Given the description of an element on the screen output the (x, y) to click on. 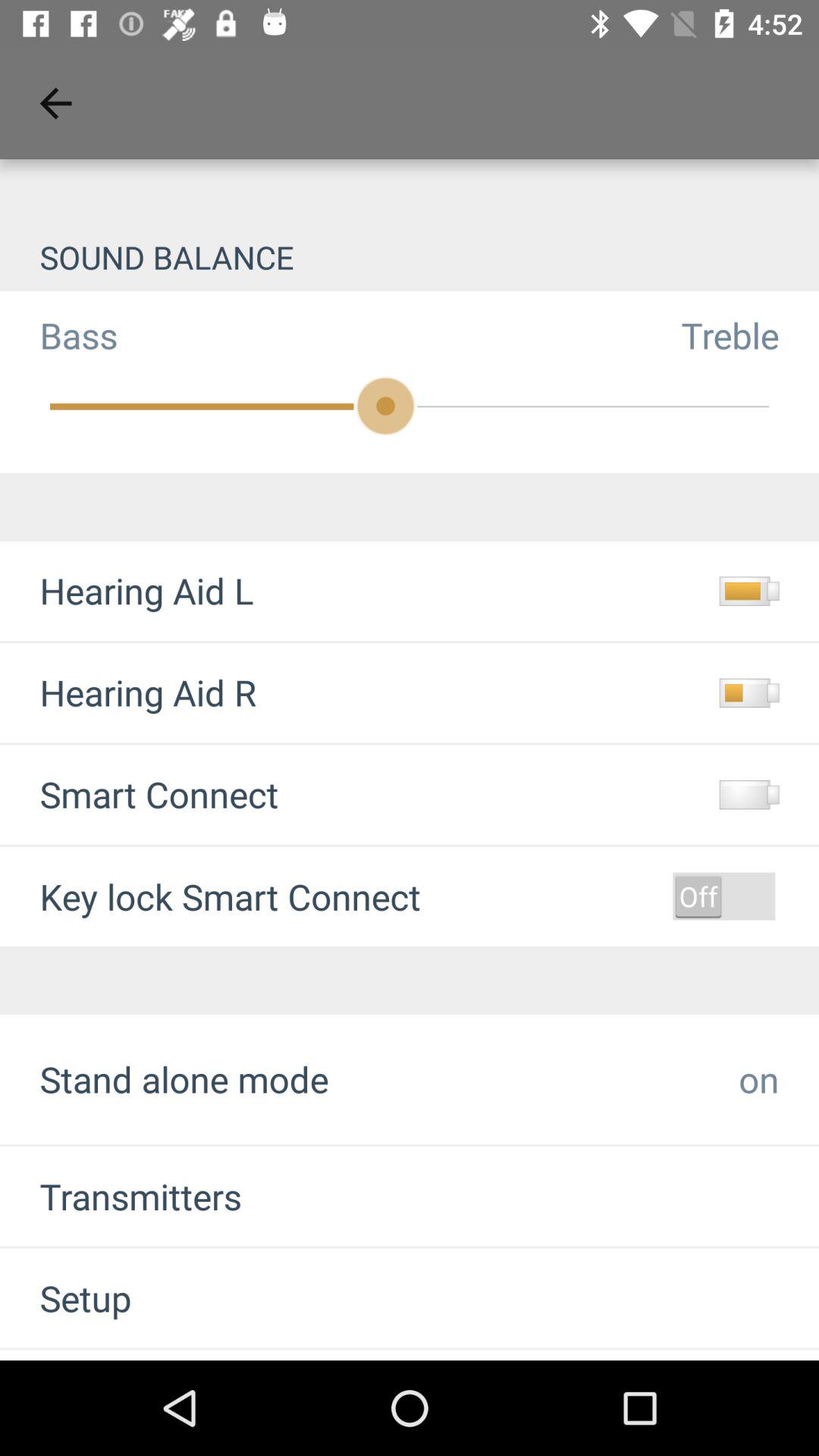
choose icon below the sound balance (58, 335)
